Given the description of an element on the screen output the (x, y) to click on. 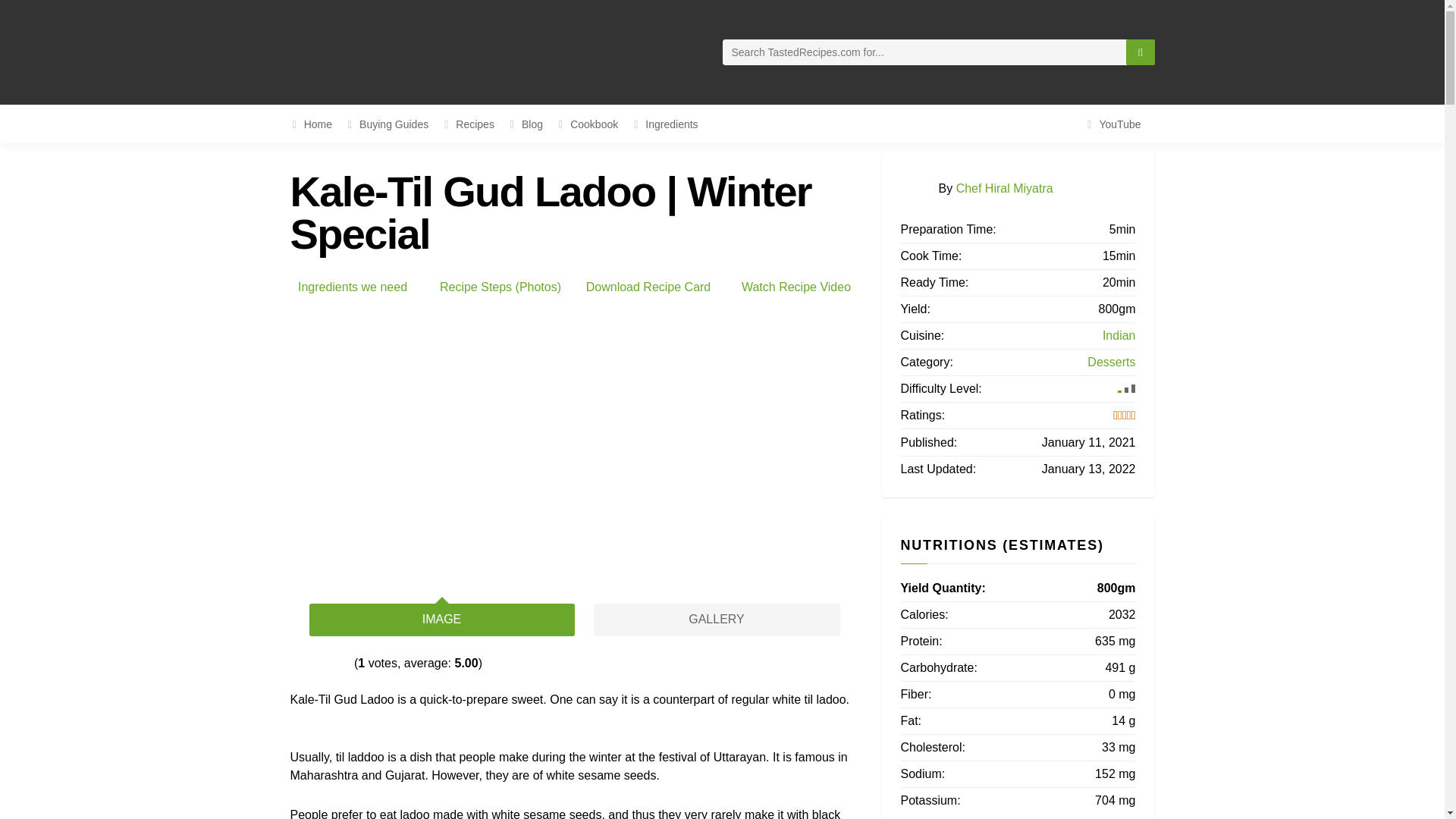
2 Stars (307, 664)
5 Stars (343, 664)
GALLERY (716, 619)
IMAGE (441, 619)
Watch Recipe Video (795, 286)
1 Star (295, 664)
Desserts (1111, 361)
4 Stars (331, 664)
Chef Hiral Miyatra (1004, 186)
3 Stars (320, 664)
